Given the description of an element on the screen output the (x, y) to click on. 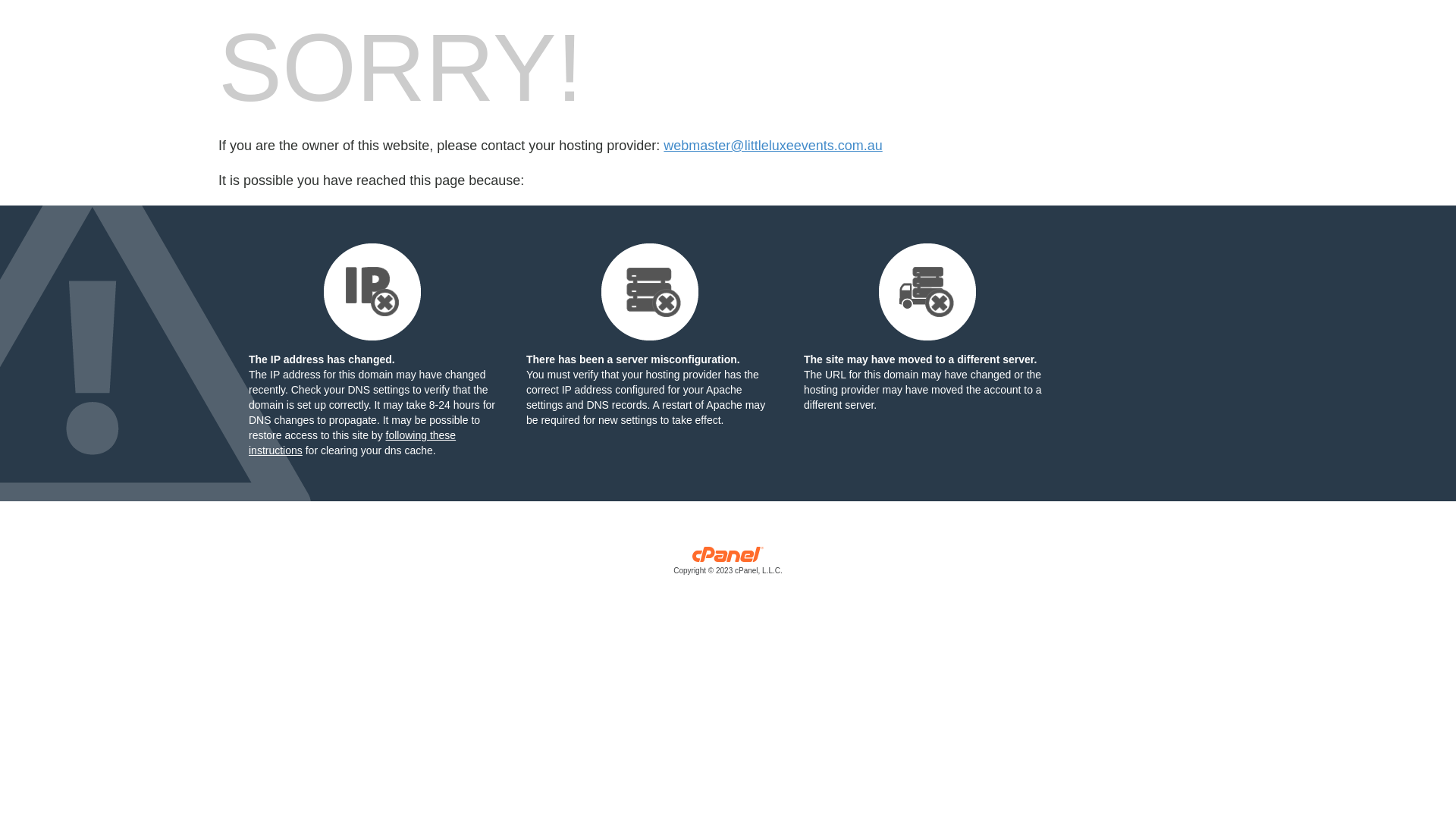
webmaster@littleluxeevents.com.au Element type: text (772, 145)
following these instructions Element type: text (351, 442)
